Given the description of an element on the screen output the (x, y) to click on. 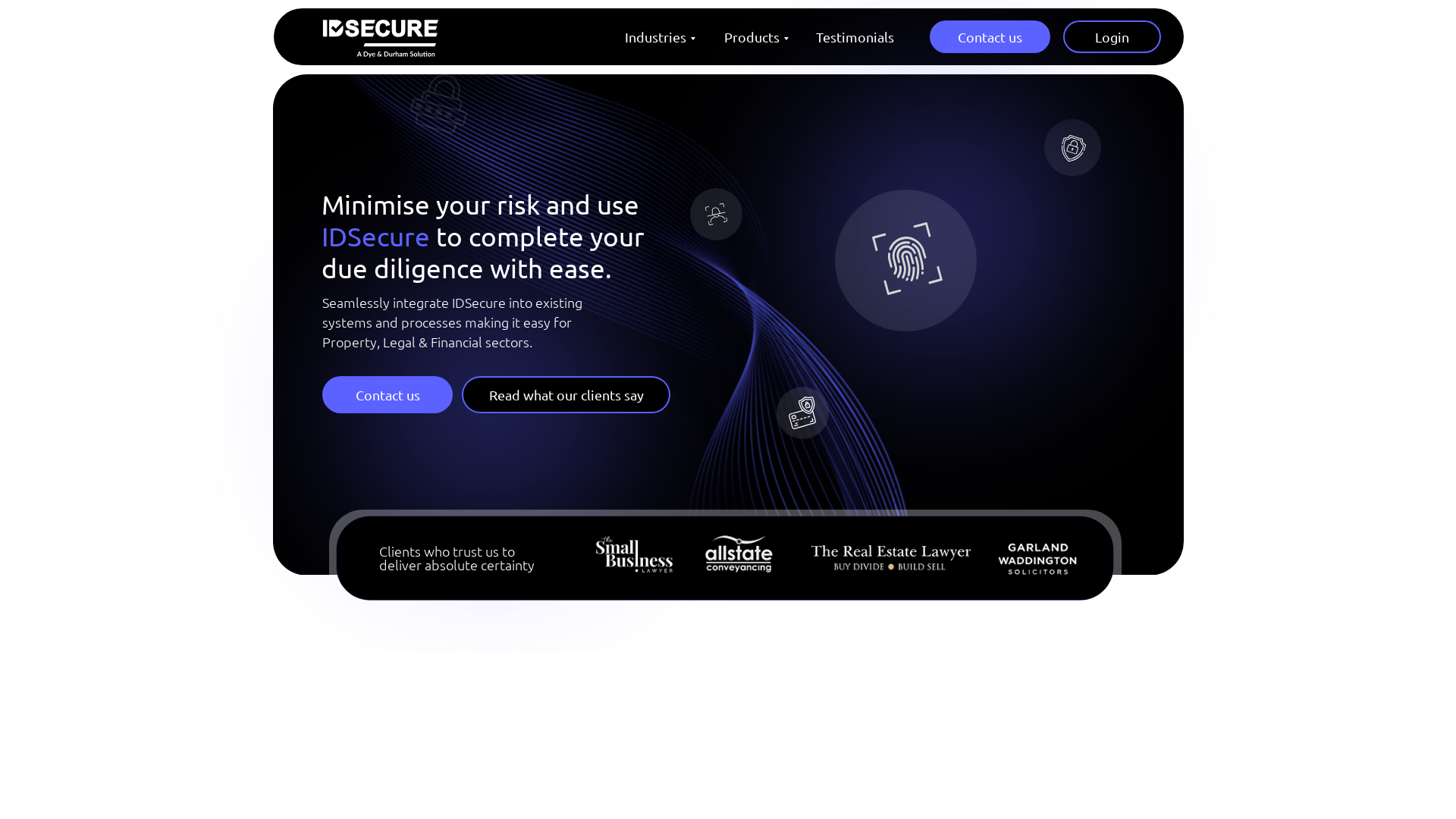
Testimonials Element type: text (854, 36)
Read what our clients say Element type: text (565, 394)
Contact us Element type: text (989, 36)
Products Element type: text (754, 36)
Login Element type: text (1112, 36)
Industries Element type: text (657, 36)
Contact us Element type: text (387, 394)
